Given the description of an element on the screen output the (x, y) to click on. 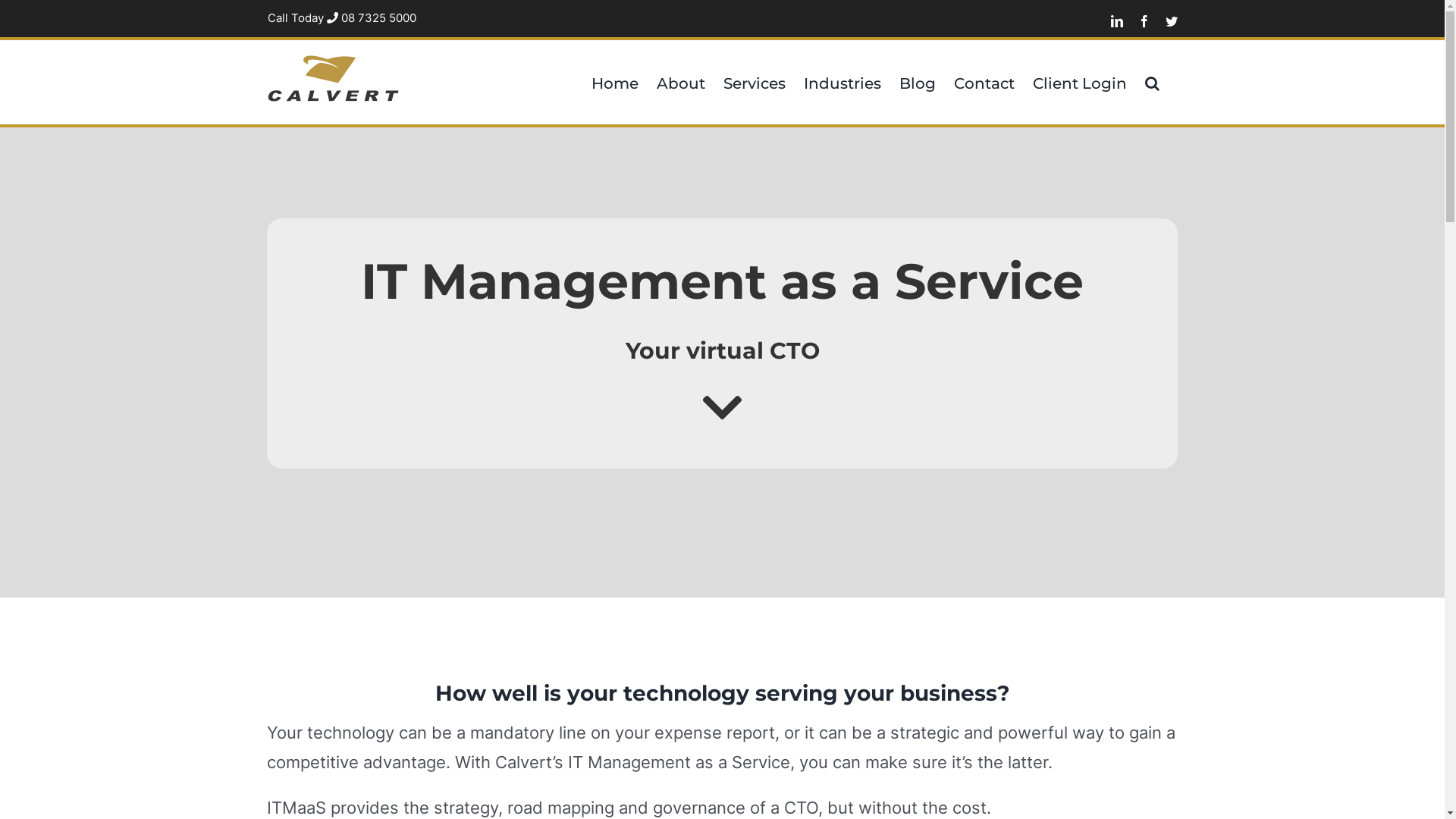
Contact Element type: text (983, 82)
Facebook Element type: text (1143, 21)
Search Element type: hover (1152, 82)
Industries Element type: text (842, 82)
About Element type: text (680, 82)
Client Login Element type: text (1079, 82)
Home Element type: text (614, 82)
Services Element type: text (754, 82)
Blog Element type: text (917, 82)
08 7325 5000 Element type: text (370, 17)
LinkedIn Element type: text (1116, 21)
Twitter Element type: text (1170, 21)
